Given the description of an element on the screen output the (x, y) to click on. 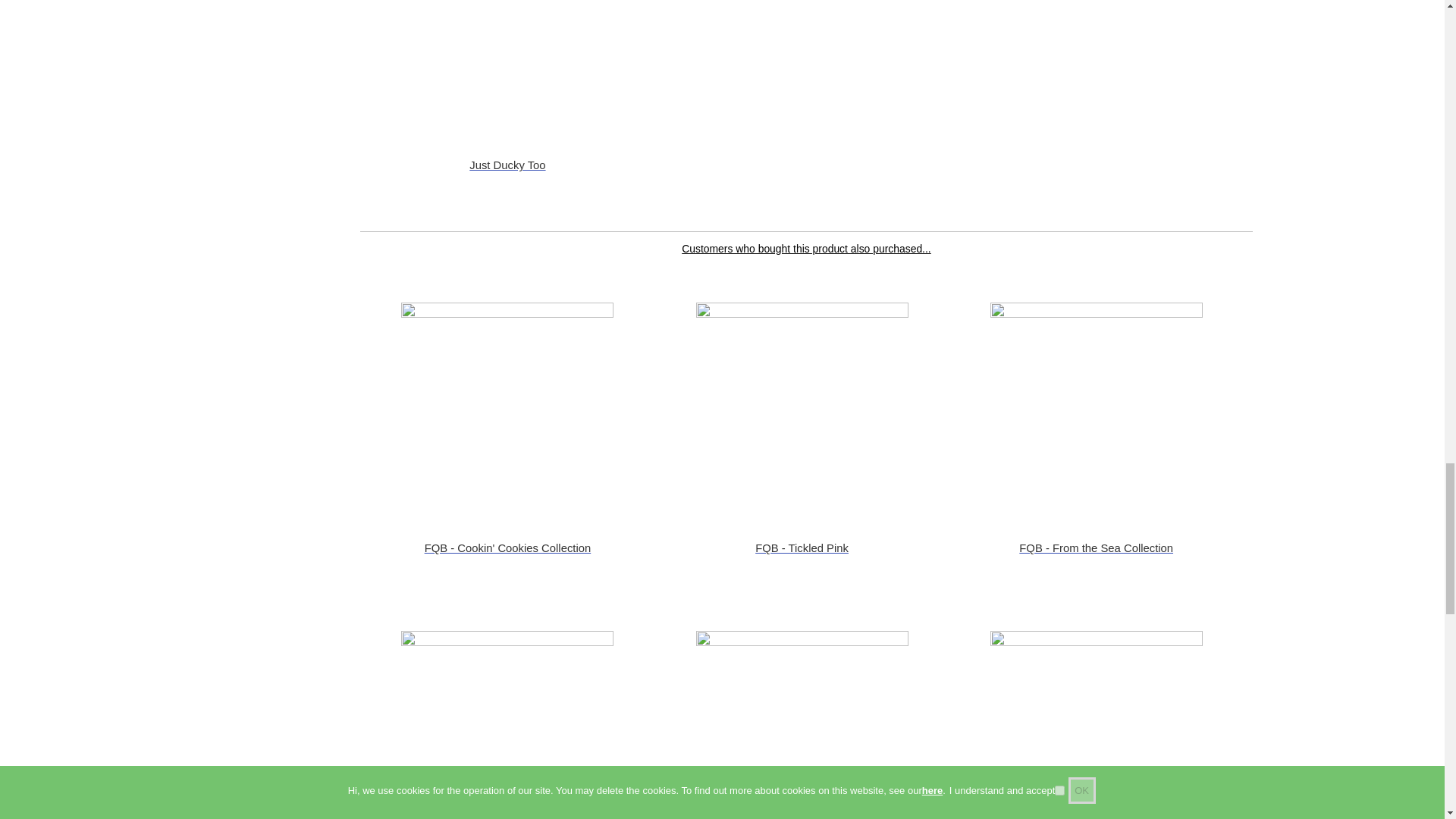
FQB - Cookin' Cookies Collection (506, 408)
Just Ducky Too (506, 65)
FQB - Tickled Pink (801, 408)
